Given the description of an element on the screen output the (x, y) to click on. 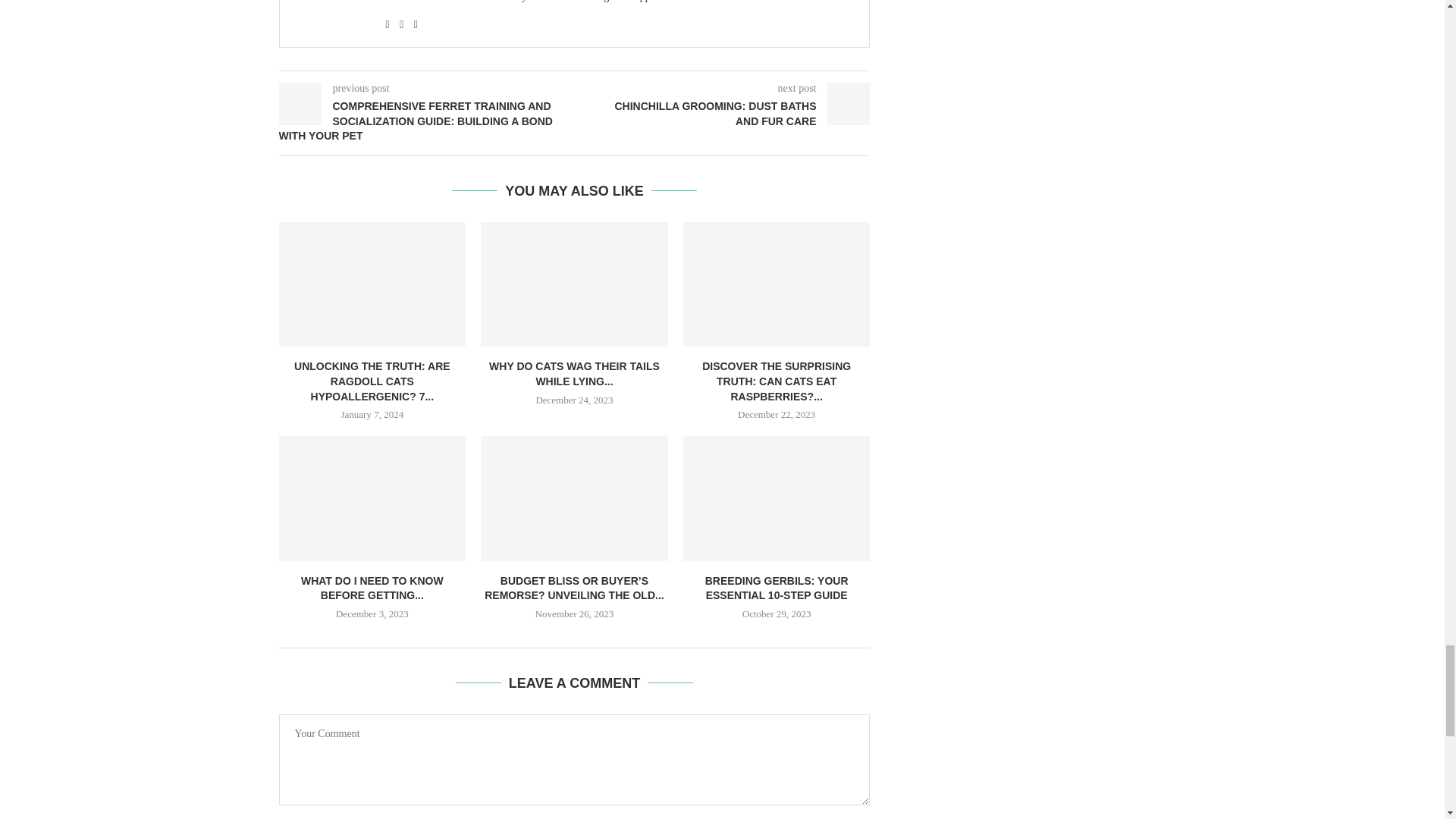
Breeding Gerbils: Your Essential 10-Step Guide (776, 497)
